Given the description of an element on the screen output the (x, y) to click on. 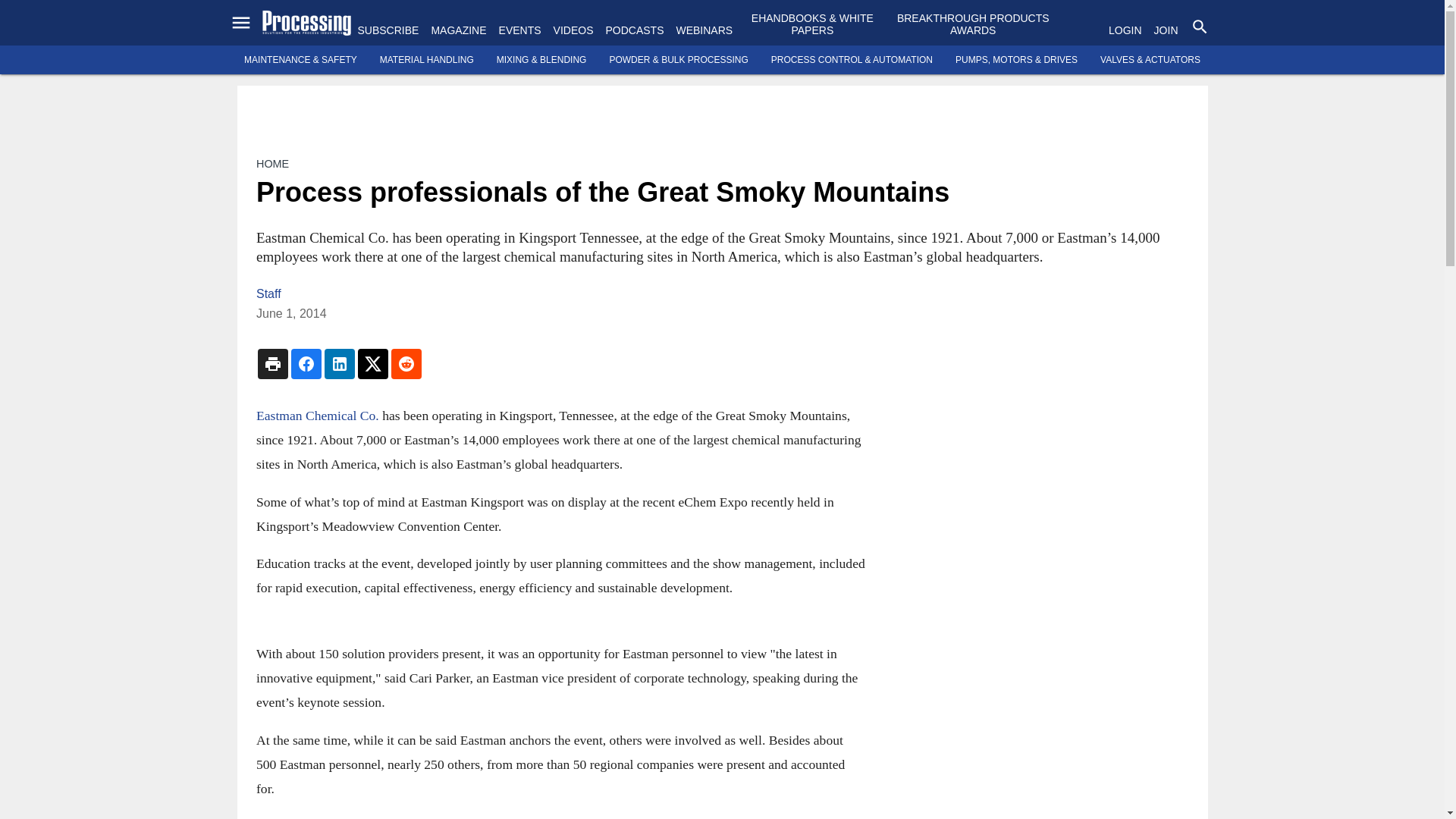
MATERIAL HANDLING (427, 59)
VIDEOS (573, 30)
EVENTS (520, 30)
WEBINARS (703, 30)
SUBSCRIBE (388, 30)
BREAKTHROUGH PRODUCTS AWARDS (972, 24)
LOGIN (1124, 30)
MAGAZINE (458, 30)
PODCASTS (634, 30)
JOIN (1165, 30)
